Given the description of an element on the screen output the (x, y) to click on. 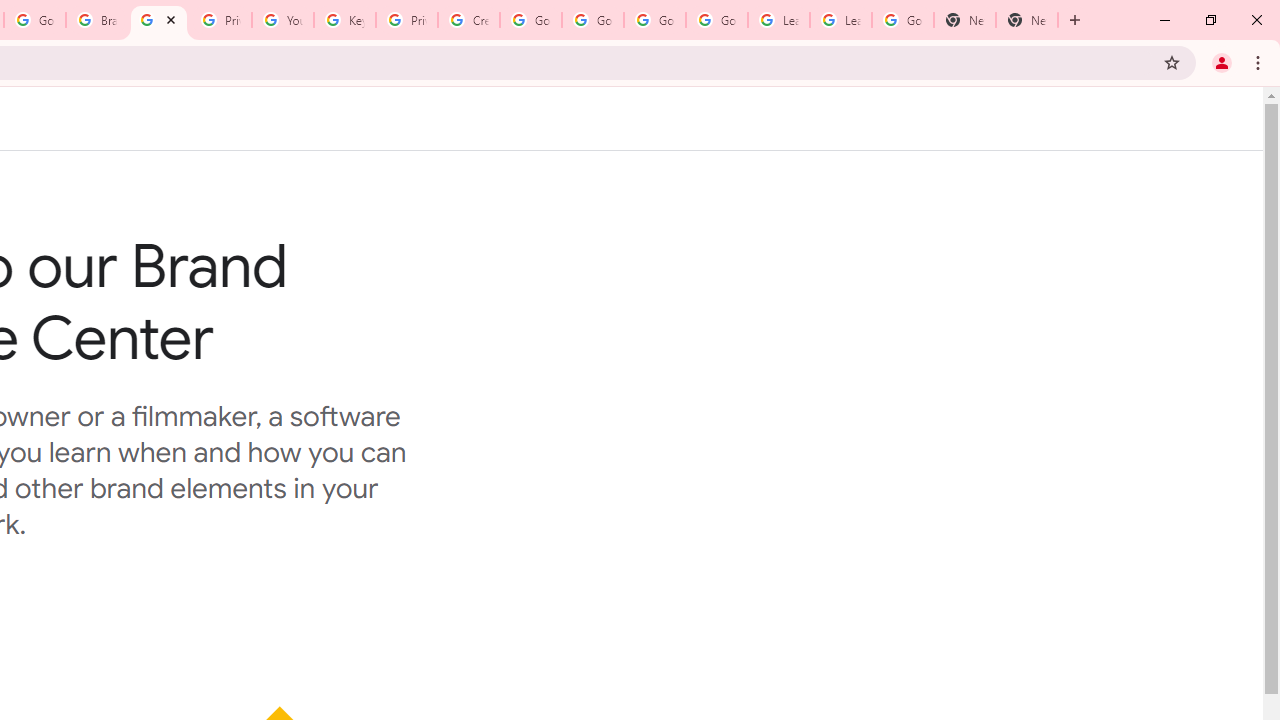
Brand Resource Center (158, 20)
Create your Google Account (468, 20)
New Tab (964, 20)
Google Account Help (530, 20)
Close (171, 19)
Bookmark this tab (1171, 62)
You (1221, 62)
Google Account (902, 20)
Minimize (1165, 20)
Google Account Help (654, 20)
Restore (1210, 20)
YouTube (282, 20)
